Given the description of an element on the screen output the (x, y) to click on. 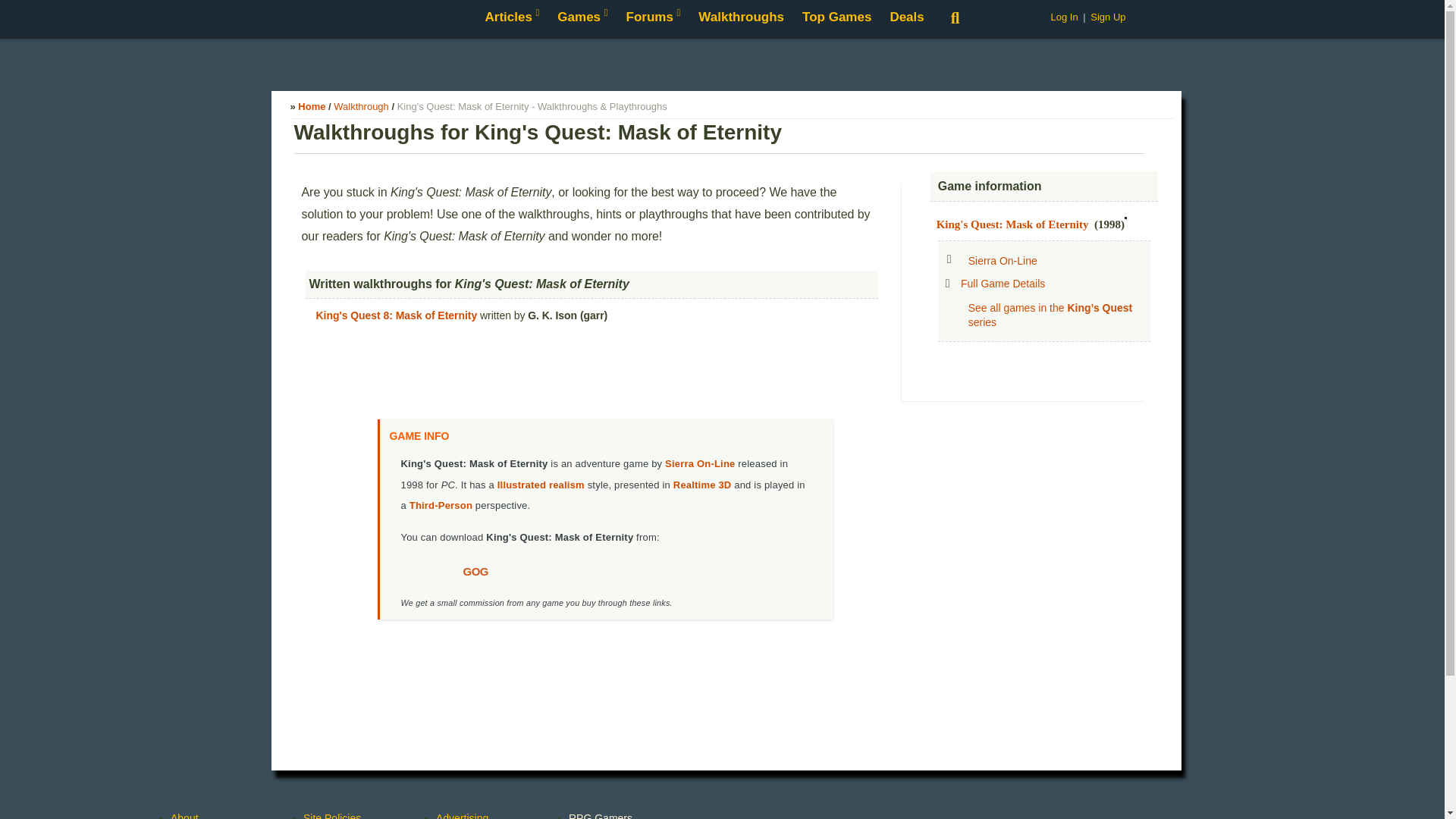
Log In (1063, 16)
Articles (512, 18)
Sign Up (1107, 16)
Games (581, 18)
Forums (653, 18)
